Given the description of an element on the screen output the (x, y) to click on. 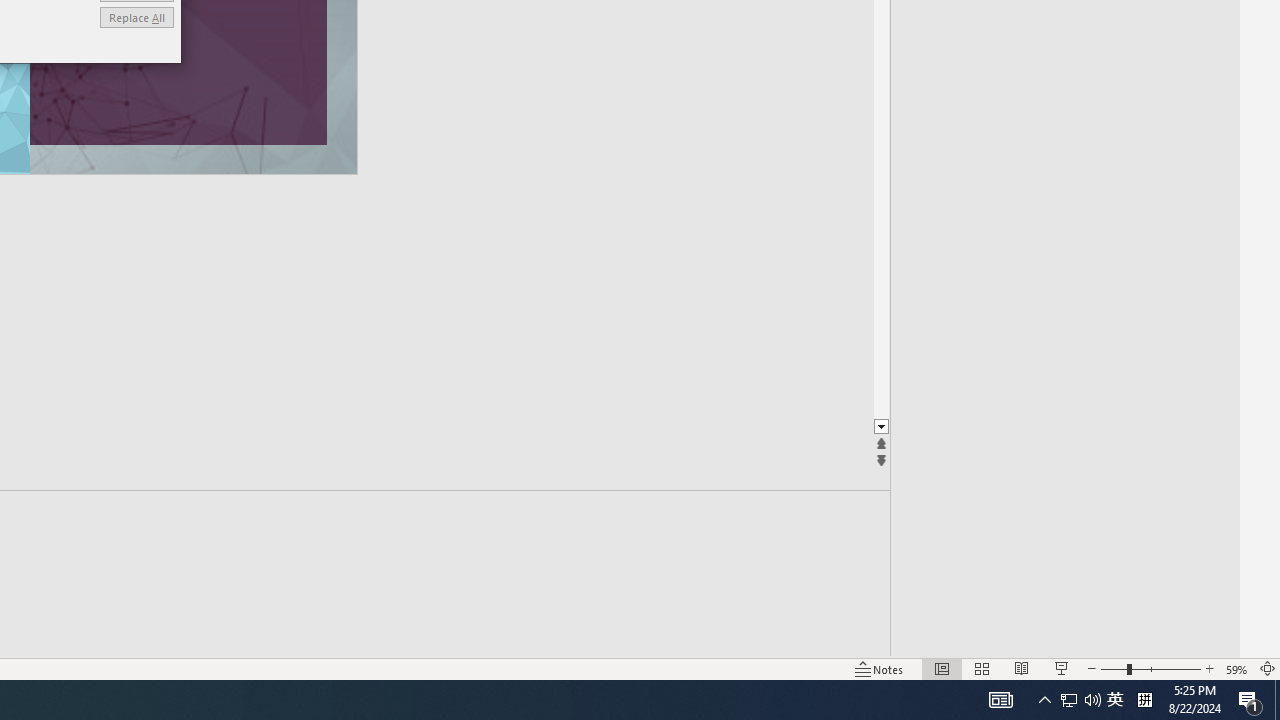
Zoom 59% (1236, 668)
Replace All (136, 16)
